Given the description of an element on the screen output the (x, y) to click on. 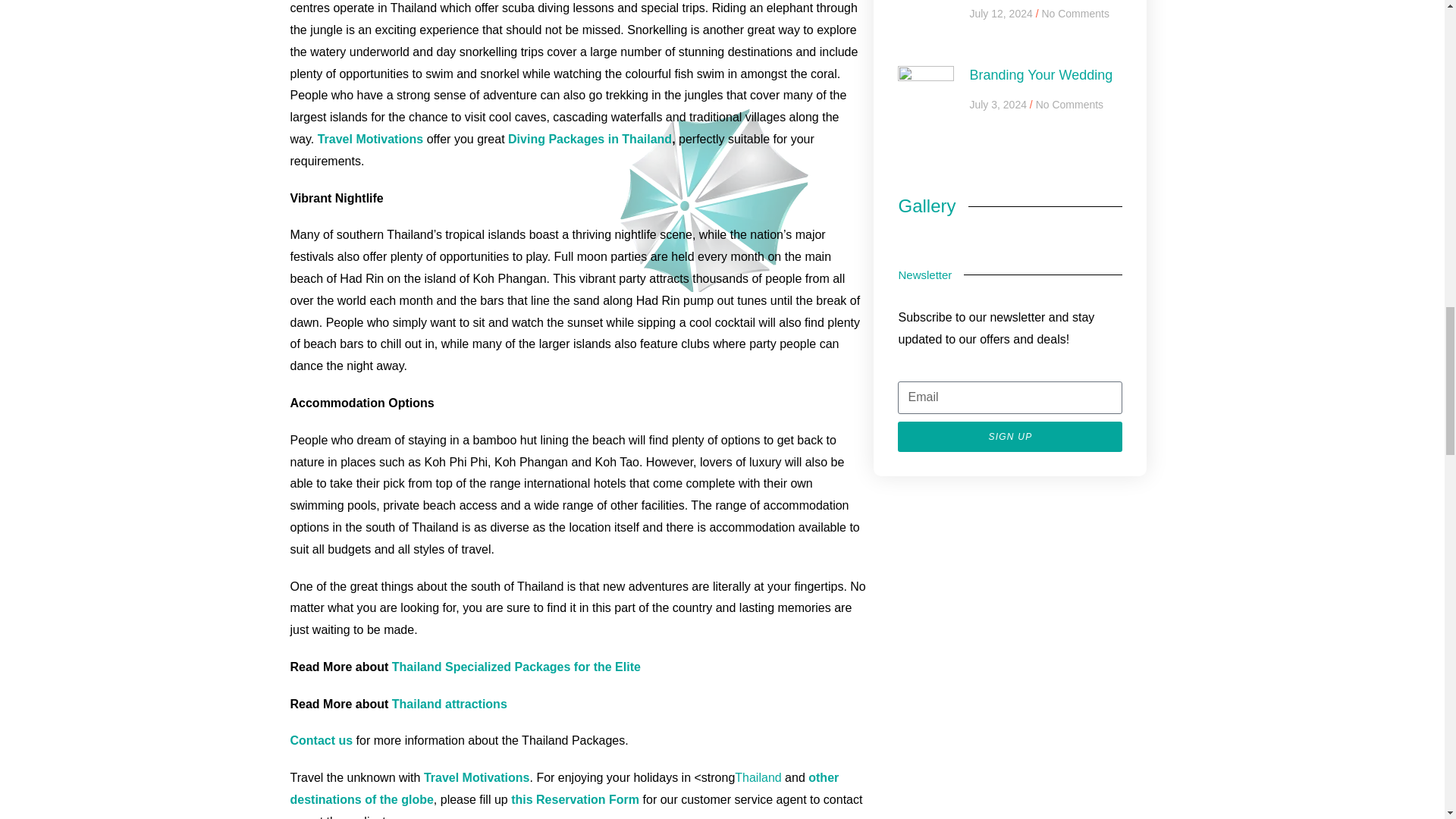
other destinations of the globe (563, 788)
Thailand attractions (447, 703)
Contact us (320, 739)
this Reservation Form (573, 799)
Diving Packages in Thailand (588, 138)
Thailand (757, 777)
Thailand Specialized Packages for the Elite (514, 666)
Travel Motivations (368, 138)
Travel Motivations (474, 777)
